Given the description of an element on the screen output the (x, y) to click on. 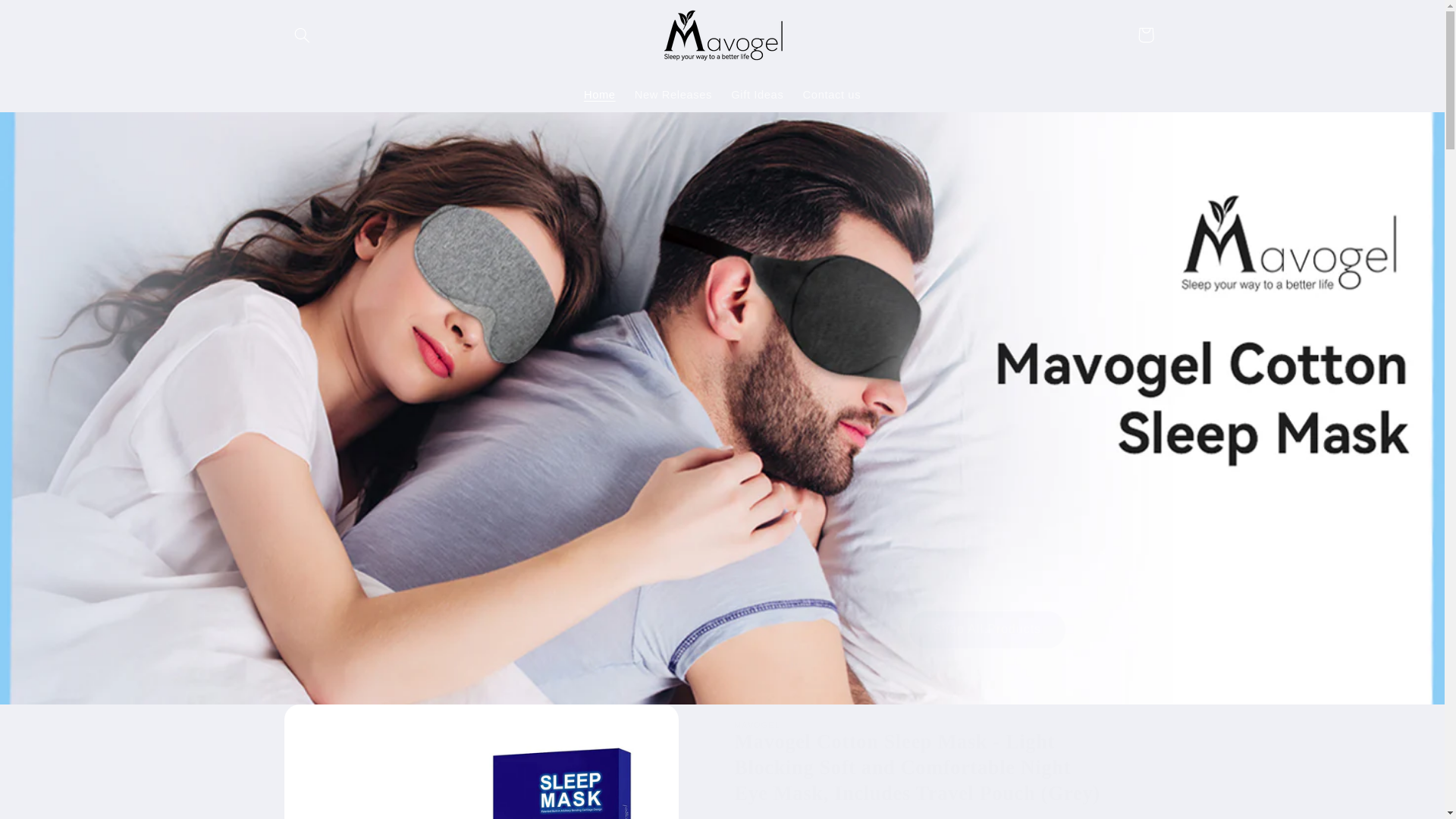
Gift Ideas (757, 95)
Contact us (831, 95)
Shop All Products (986, 629)
Home (598, 95)
New Releases (672, 95)
Open media 1 in modal (480, 761)
Cart (1145, 34)
Skip to content (48, 18)
